Given the description of an element on the screen output the (x, y) to click on. 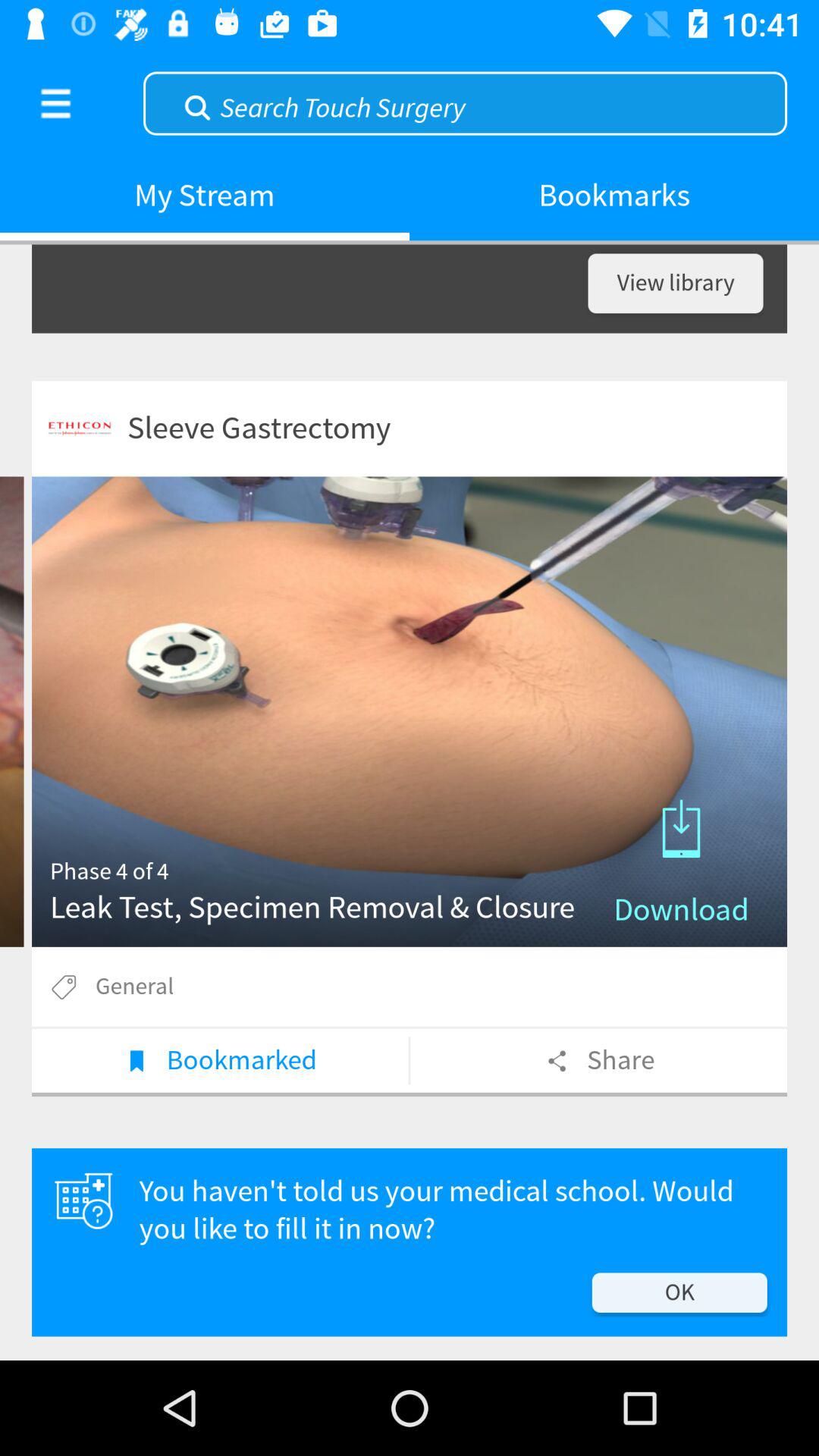
click view library item (675, 283)
